Given the description of an element on the screen output the (x, y) to click on. 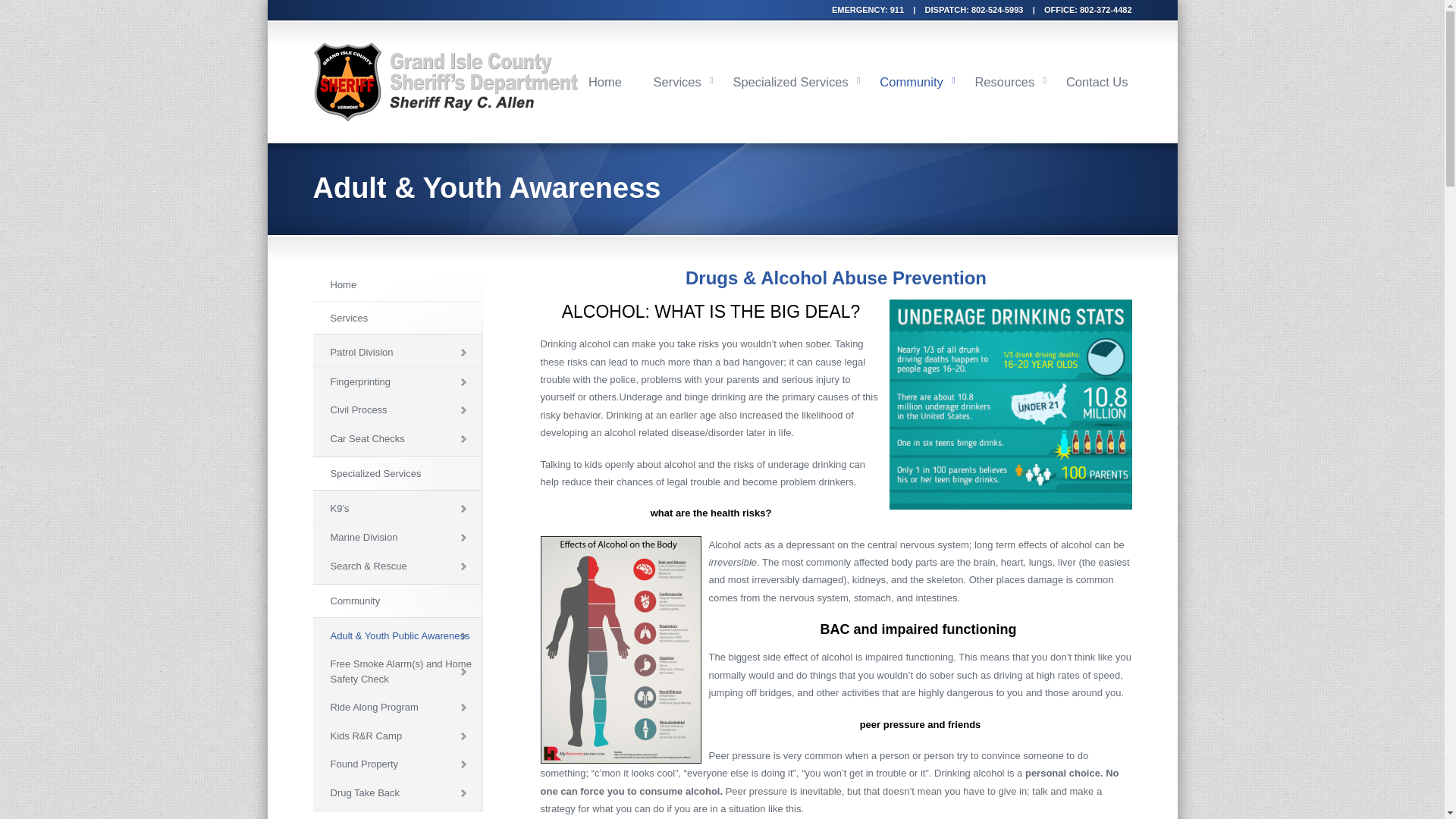
Community (911, 81)
Fingerprinting (397, 381)
Marine Division (397, 537)
Services (676, 81)
Services (397, 318)
Civil Process (397, 410)
Car Seat Checks (397, 439)
Resources (1004, 81)
Found Property (397, 764)
Home (397, 285)
Community (397, 601)
Ride Along Program (397, 706)
Contact Us (1097, 81)
Specialized Services (790, 81)
Home (605, 81)
